Given the description of an element on the screen output the (x, y) to click on. 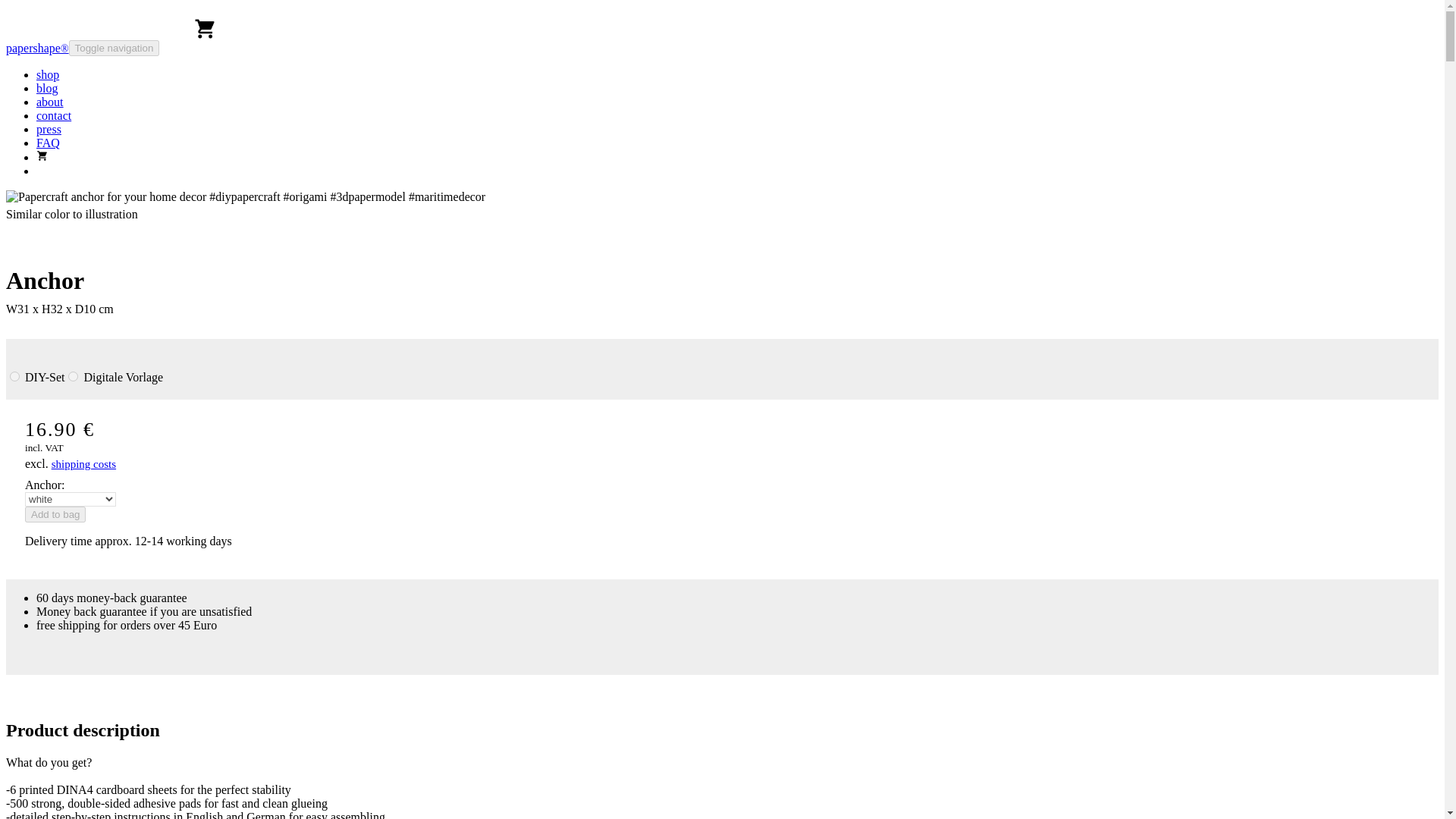
shop (47, 74)
Add to bag (54, 514)
Toggle navigation (114, 48)
shipping costs (83, 464)
FAQ (47, 142)
pdf (73, 376)
blog (47, 88)
diyset (15, 376)
about (50, 101)
